Given the description of an element on the screen output the (x, y) to click on. 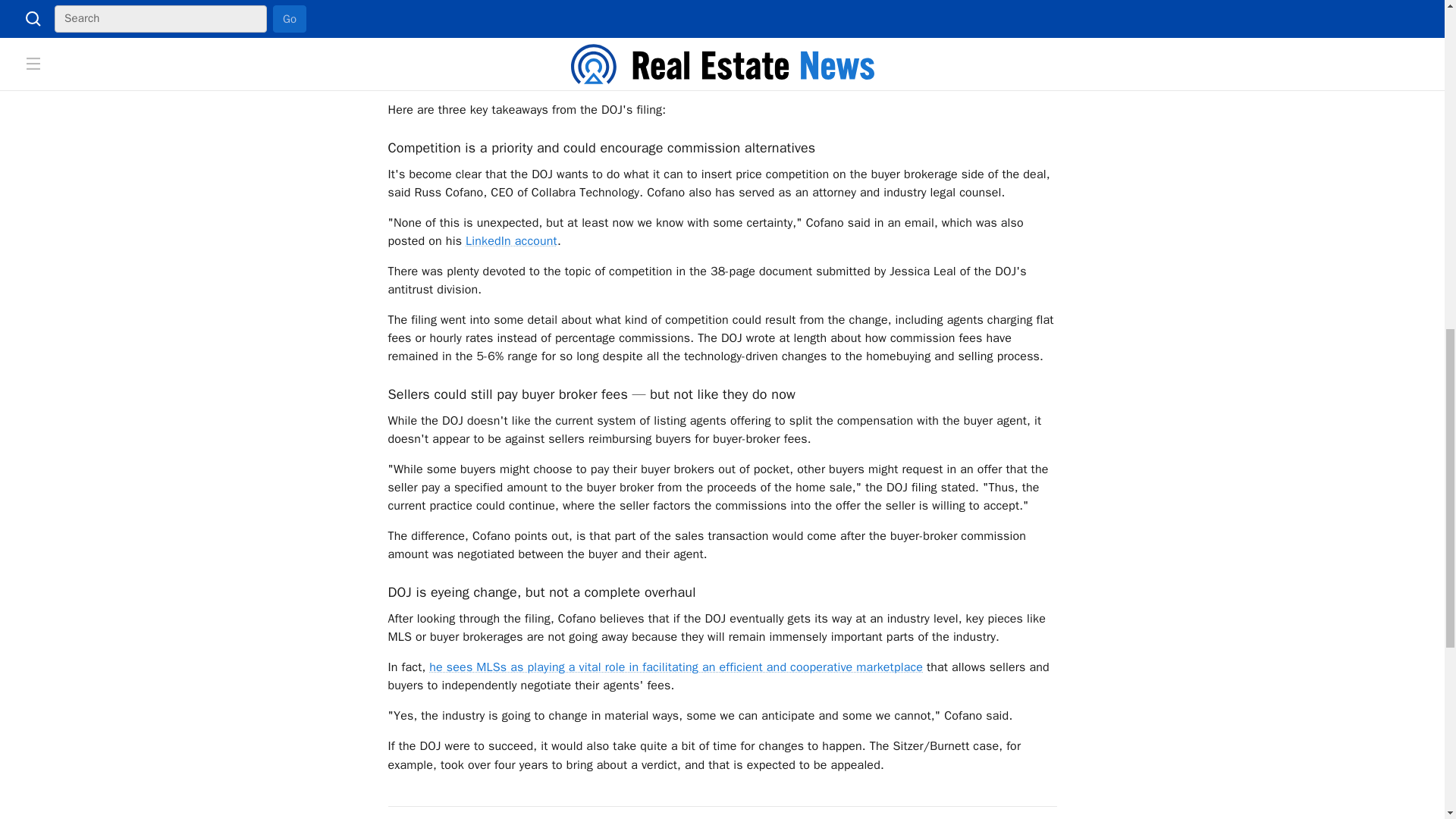
LinkedIn account (511, 240)
currently waiting to hear (597, 1)
